Given the description of an element on the screen output the (x, y) to click on. 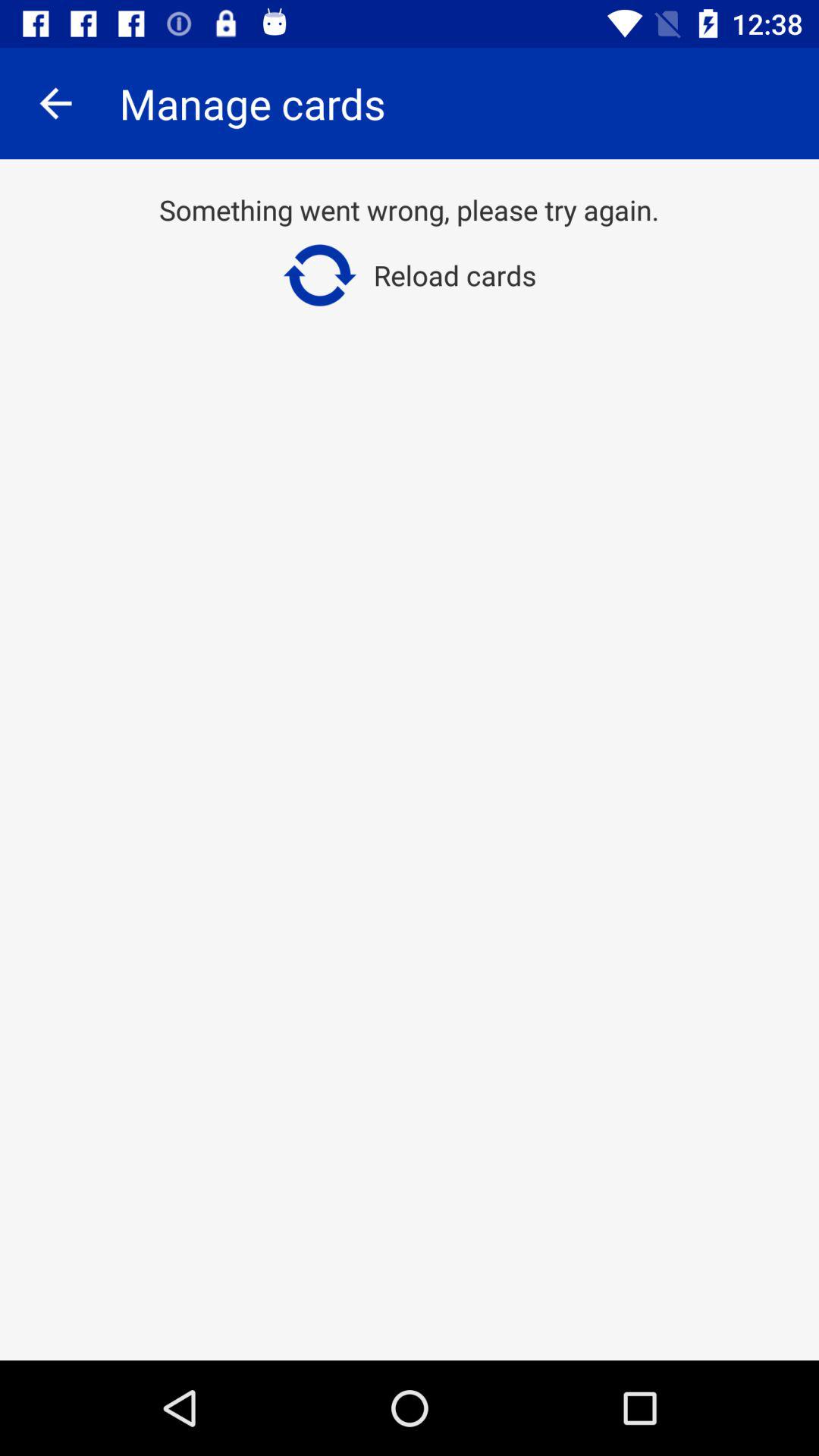
select app next to the manage cards app (55, 103)
